Given the description of an element on the screen output the (x, y) to click on. 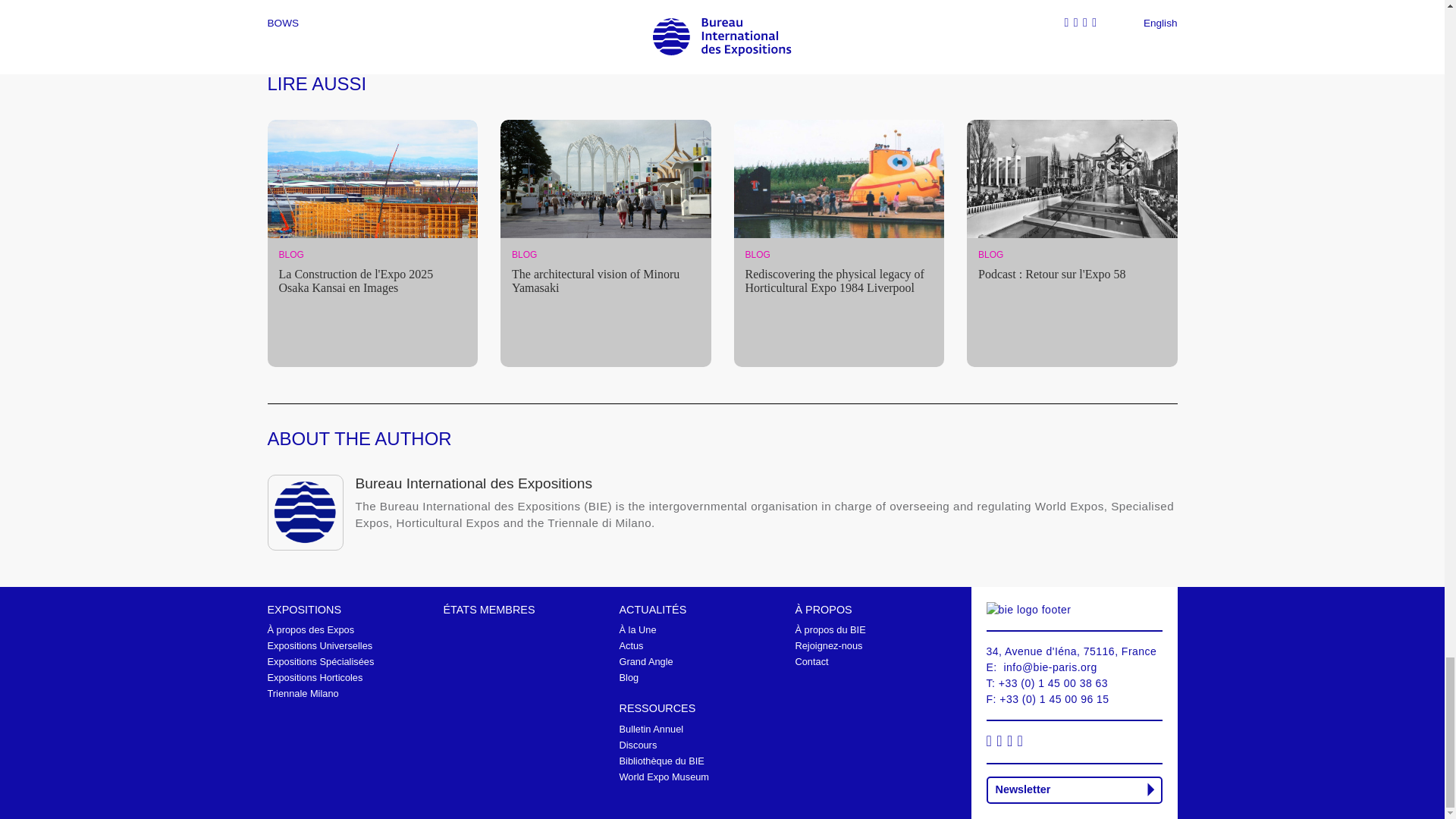
La Construction de l'Expo 2025 Osaka Kansai en Images (373, 280)
Podcast : Retour sur l'Expo 58 (1072, 274)
The architectural vision of Minoru Yamasaki (606, 280)
